Given the description of an element on the screen output the (x, y) to click on. 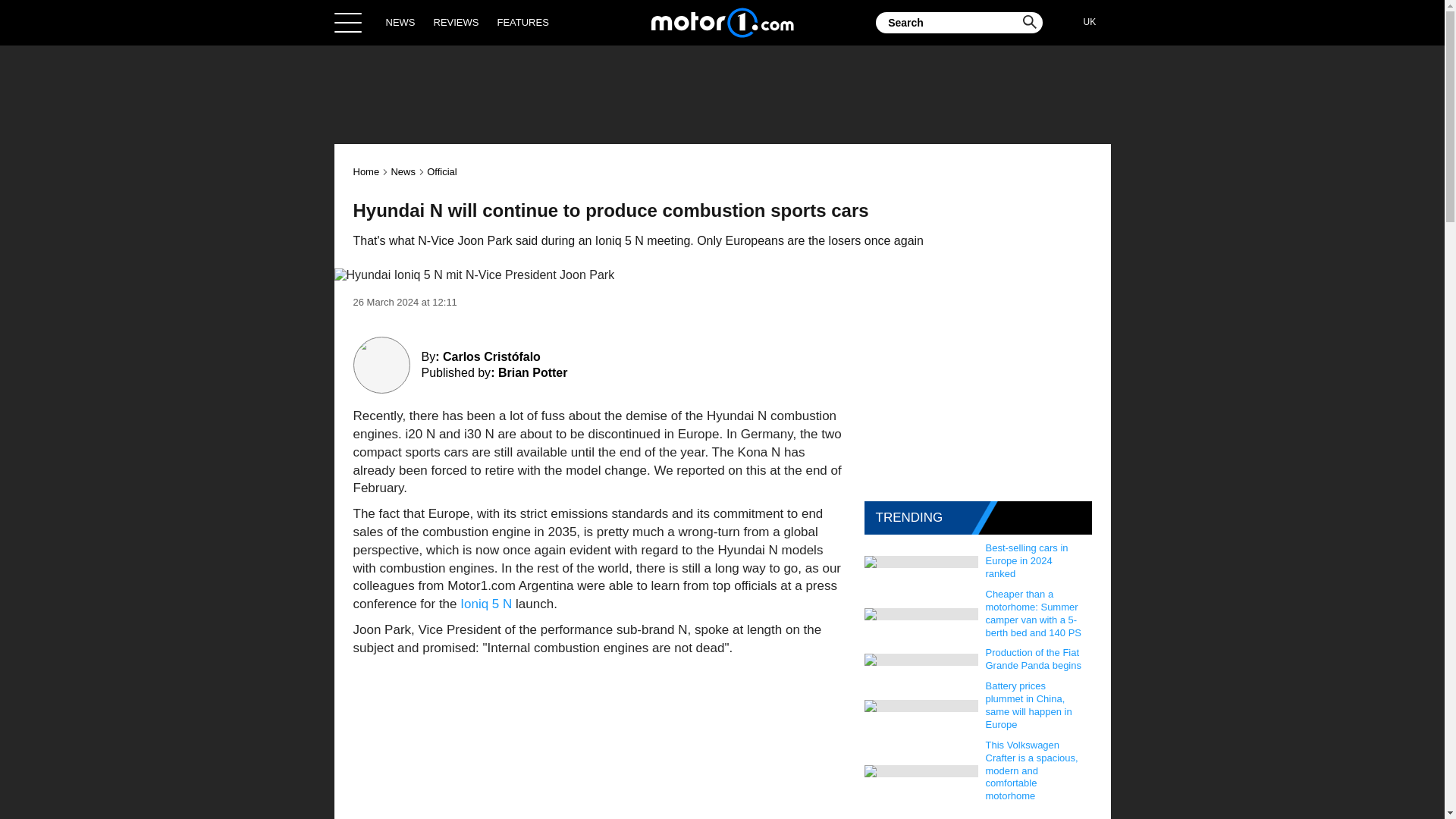
Ioniq 5 N (486, 603)
NEWS (399, 22)
Home (366, 171)
FEATURES (522, 22)
Brian Potter (532, 372)
News (402, 171)
Official (441, 171)
Best-selling cars in Europe in 2024 ranked (1035, 561)
Home (721, 22)
REVIEWS (456, 22)
